Given the description of an element on the screen output the (x, y) to click on. 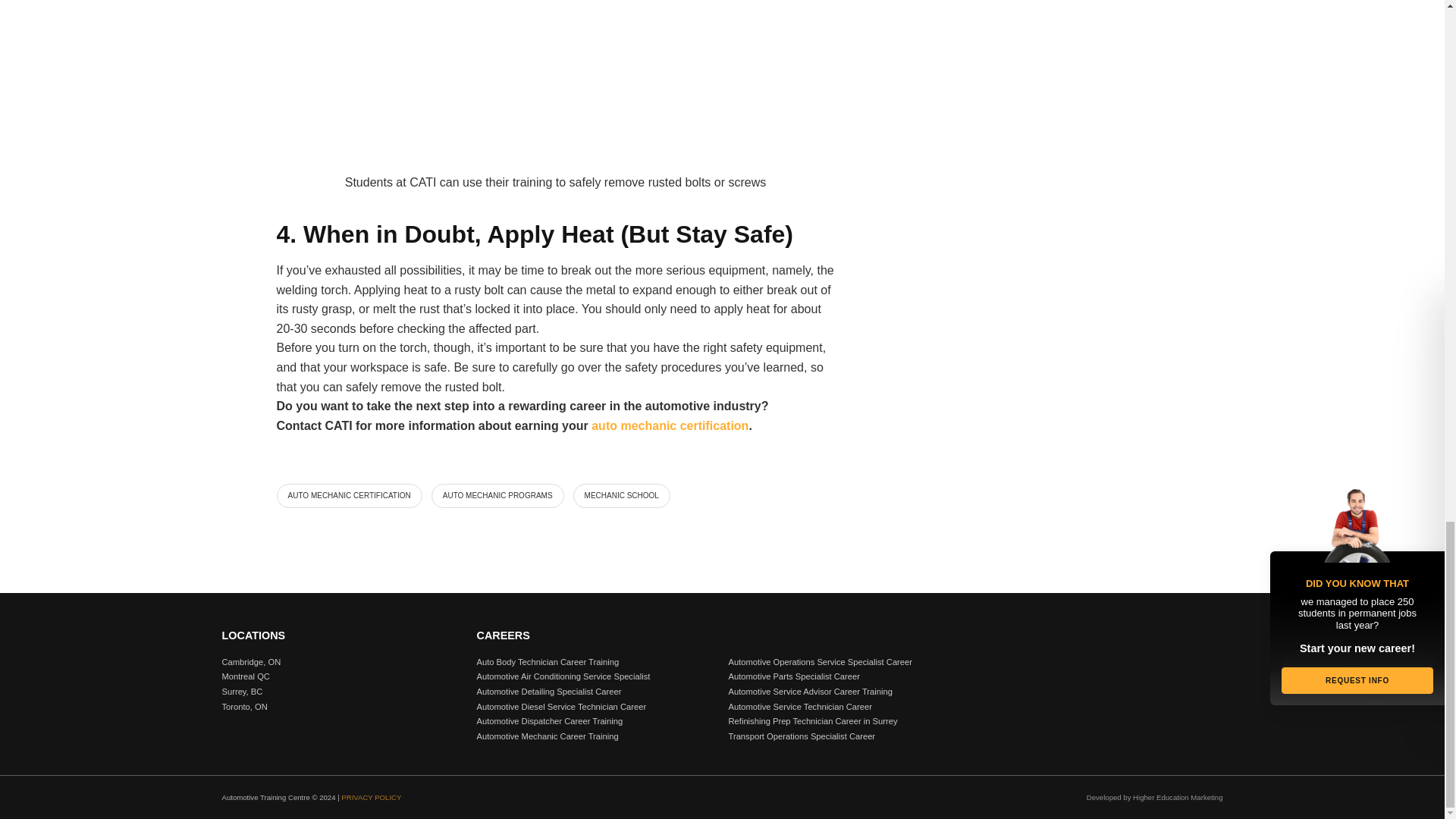
MECHANIC SCHOOL (621, 495)
AUTO MECHANIC PROGRAMS (497, 495)
auto mechanic certification (669, 425)
AUTO MECHANIC CERTIFICATION (349, 495)
